Given the description of an element on the screen output the (x, y) to click on. 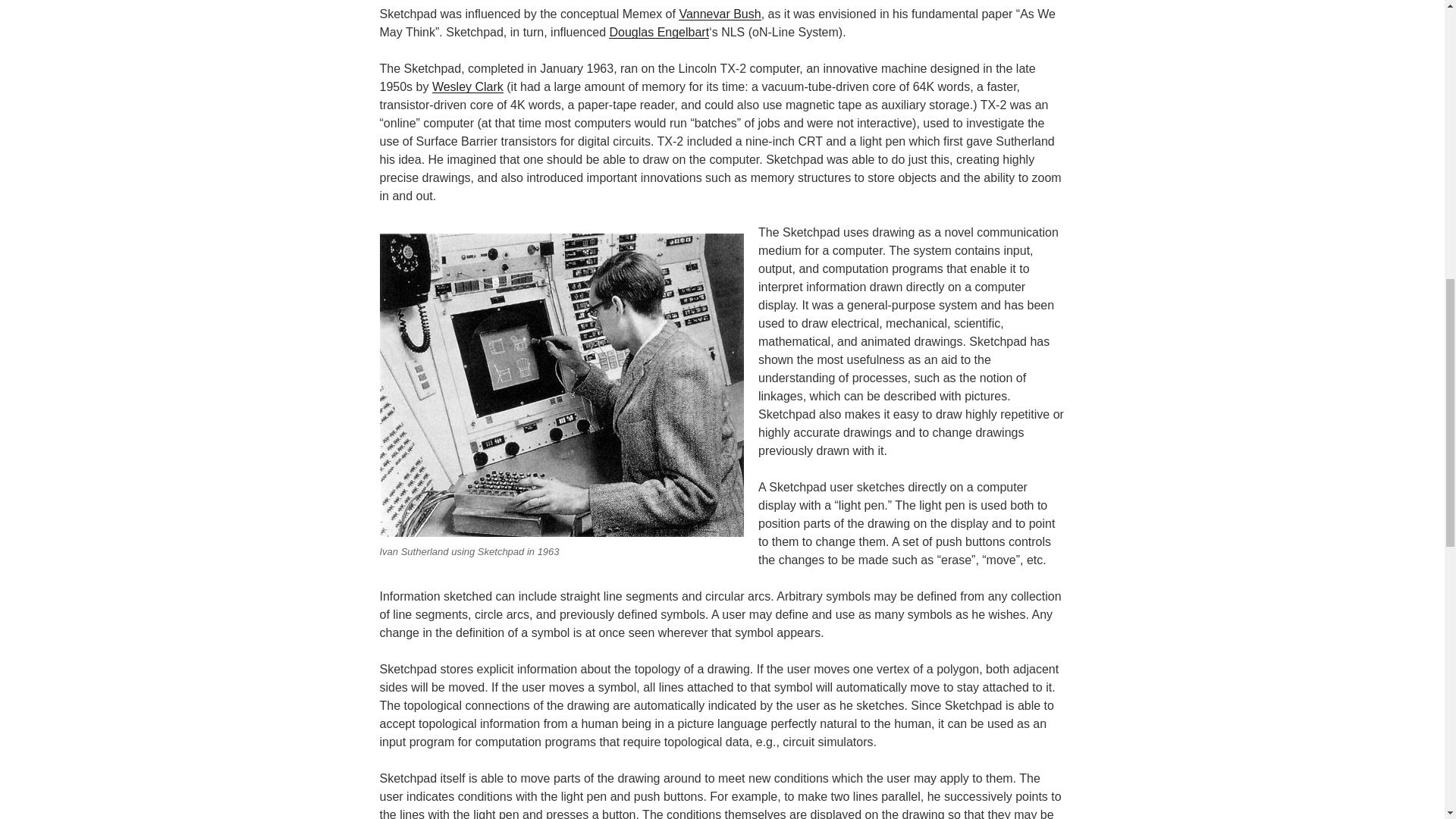
Wesley Clark (467, 86)
Vannevar Bush (719, 13)
Douglas Engelbart (658, 31)
